Given the description of an element on the screen output the (x, y) to click on. 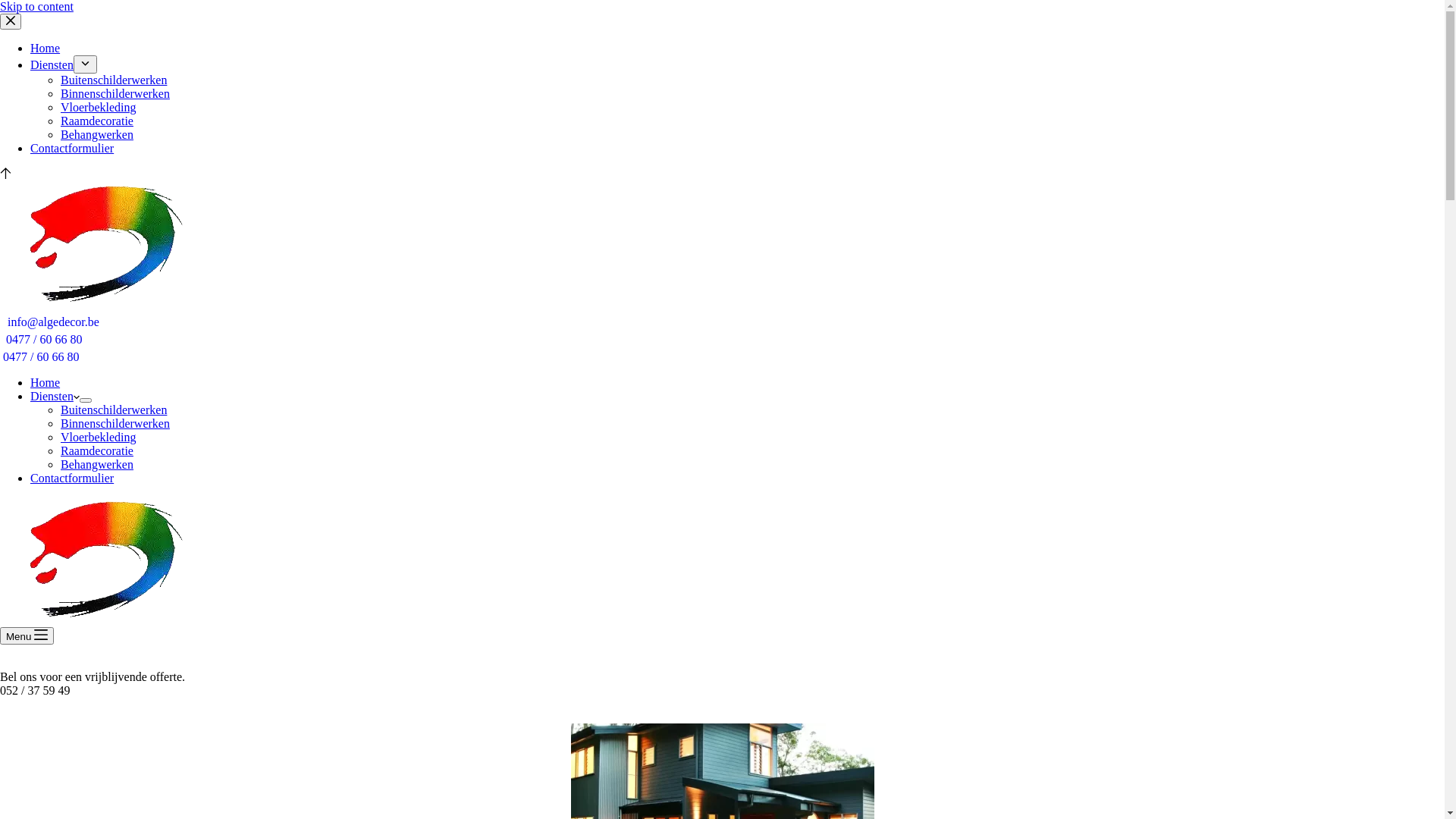
Vloerbekleding Element type: text (98, 436)
Diensten Element type: text (54, 395)
Binnenschilderwerken Element type: text (114, 423)
Home Element type: text (44, 47)
Menu Element type: text (26, 635)
Diensten Element type: text (51, 64)
Behangwerken Element type: text (96, 464)
Skip to content Element type: text (36, 6)
Buitenschilderwerken Element type: text (113, 79)
Go to top Element type: hover (5, 174)
info@algedecor.be Element type: text (53, 321)
Raamdecoratie Element type: text (96, 120)
Raamdecoratie Element type: text (96, 450)
0477 / 60 66 80 Element type: text (43, 338)
Contactformulier Element type: text (71, 477)
Binnenschilderwerken Element type: text (114, 93)
Vloerbekleding Element type: text (98, 106)
Home Element type: text (44, 382)
Contactformulier Element type: text (71, 147)
0477 / 60 66 80 Element type: text (40, 356)
Behangwerken Element type: text (96, 134)
Buitenschilderwerken Element type: text (113, 409)
